Given the description of an element on the screen output the (x, y) to click on. 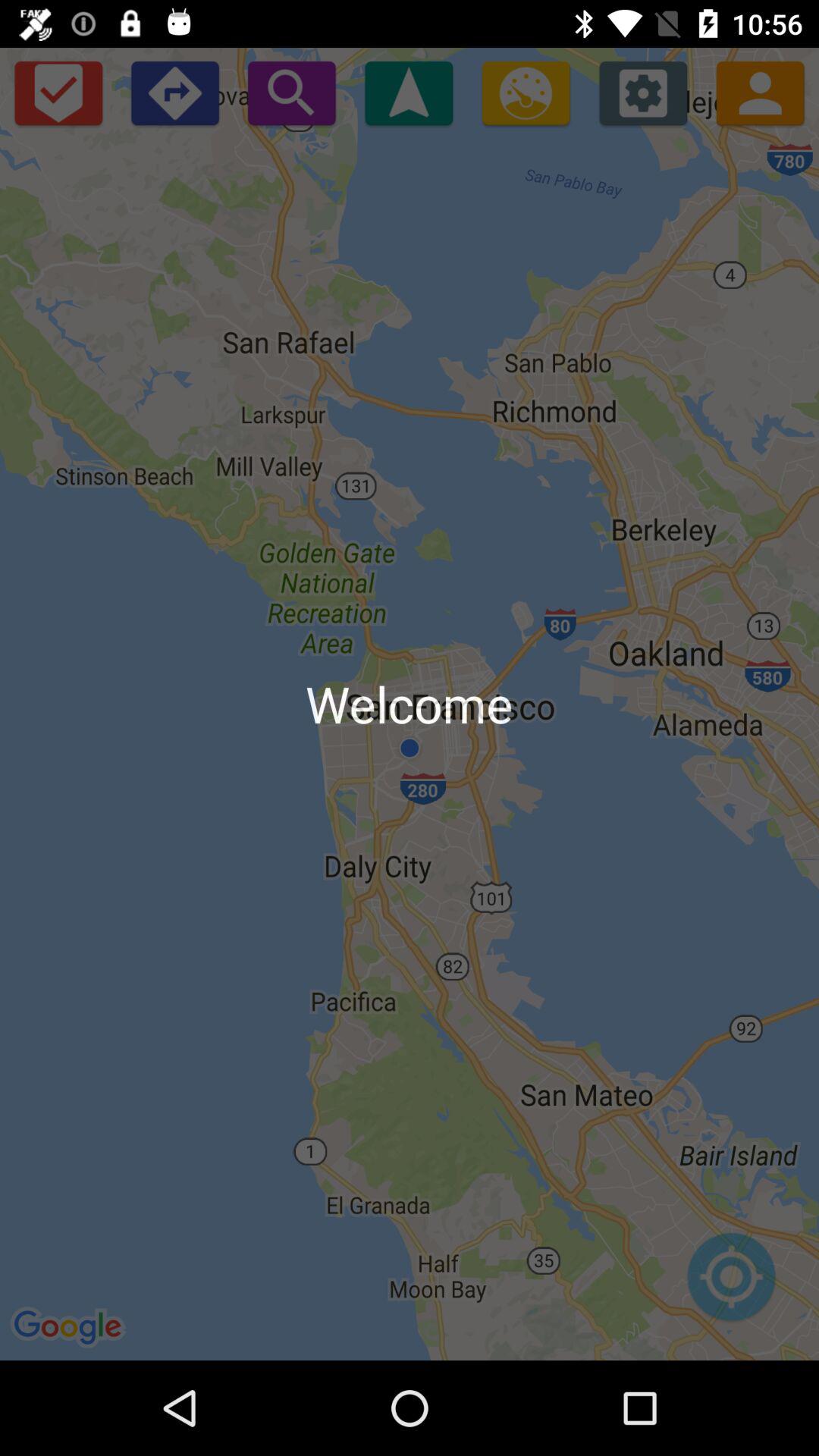
search app (291, 92)
